Given the description of an element on the screen output the (x, y) to click on. 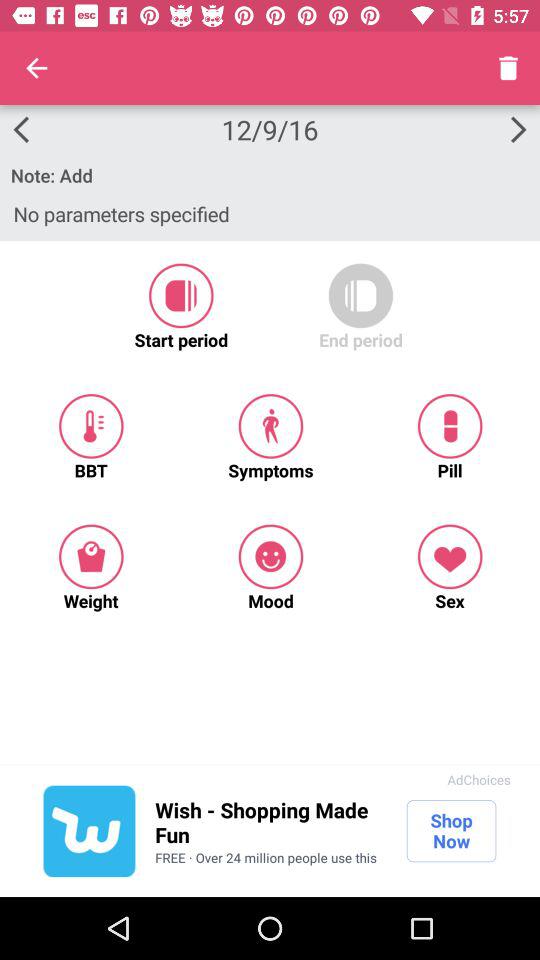
click icon to the right of wish shopping made icon (451, 831)
